Given the description of an element on the screen output the (x, y) to click on. 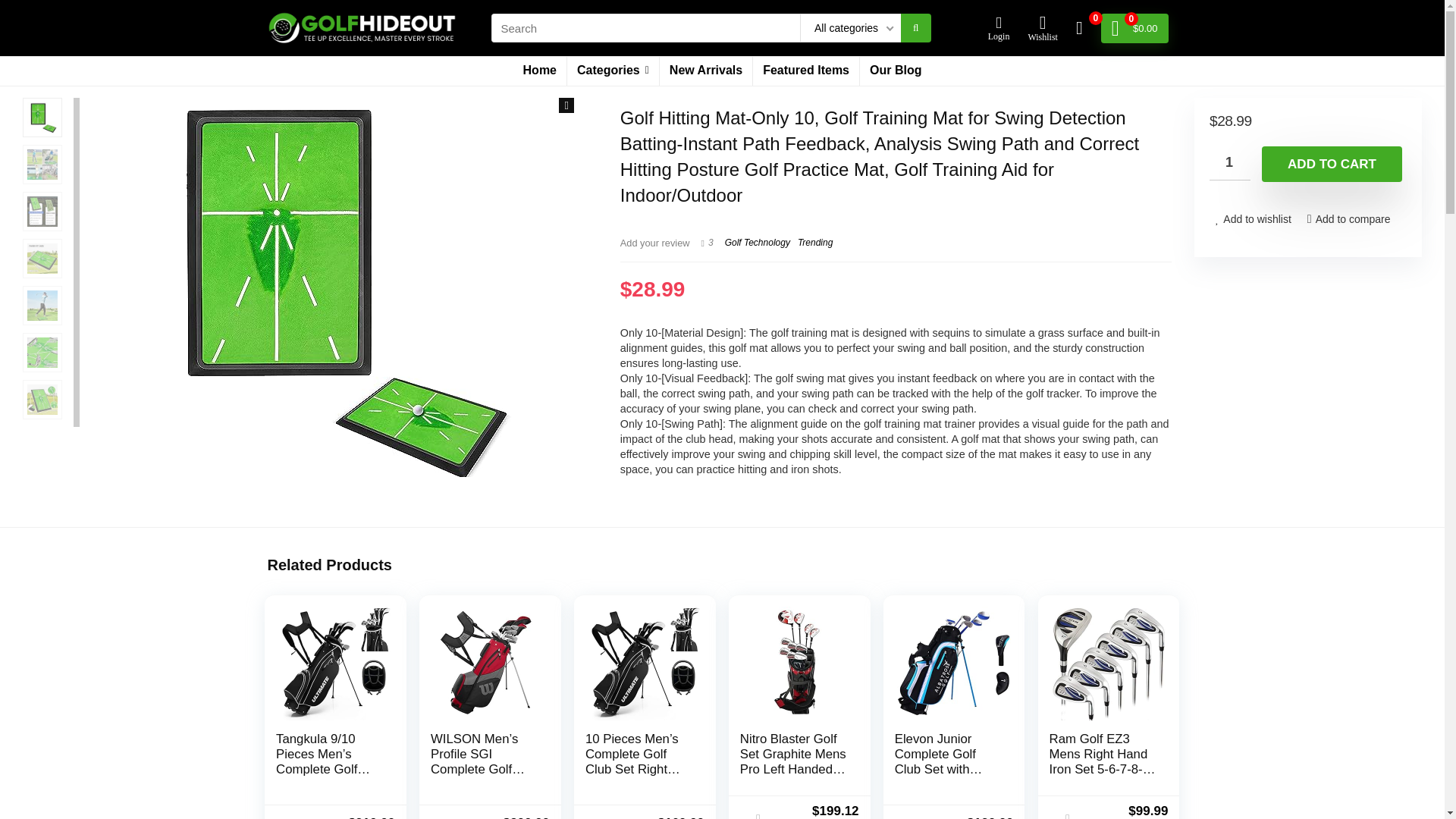
Add your review (655, 242)
1 (1229, 163)
Trending (814, 242)
ADD TO CART (1332, 163)
Golf Technology (757, 242)
Home (539, 70)
Featured Items (805, 70)
New Arrivals (705, 70)
View all posts in Trending (814, 242)
View all posts in Golf Technology (757, 242)
Categories (613, 70)
Our Blog (895, 70)
